Given the description of an element on the screen output the (x, y) to click on. 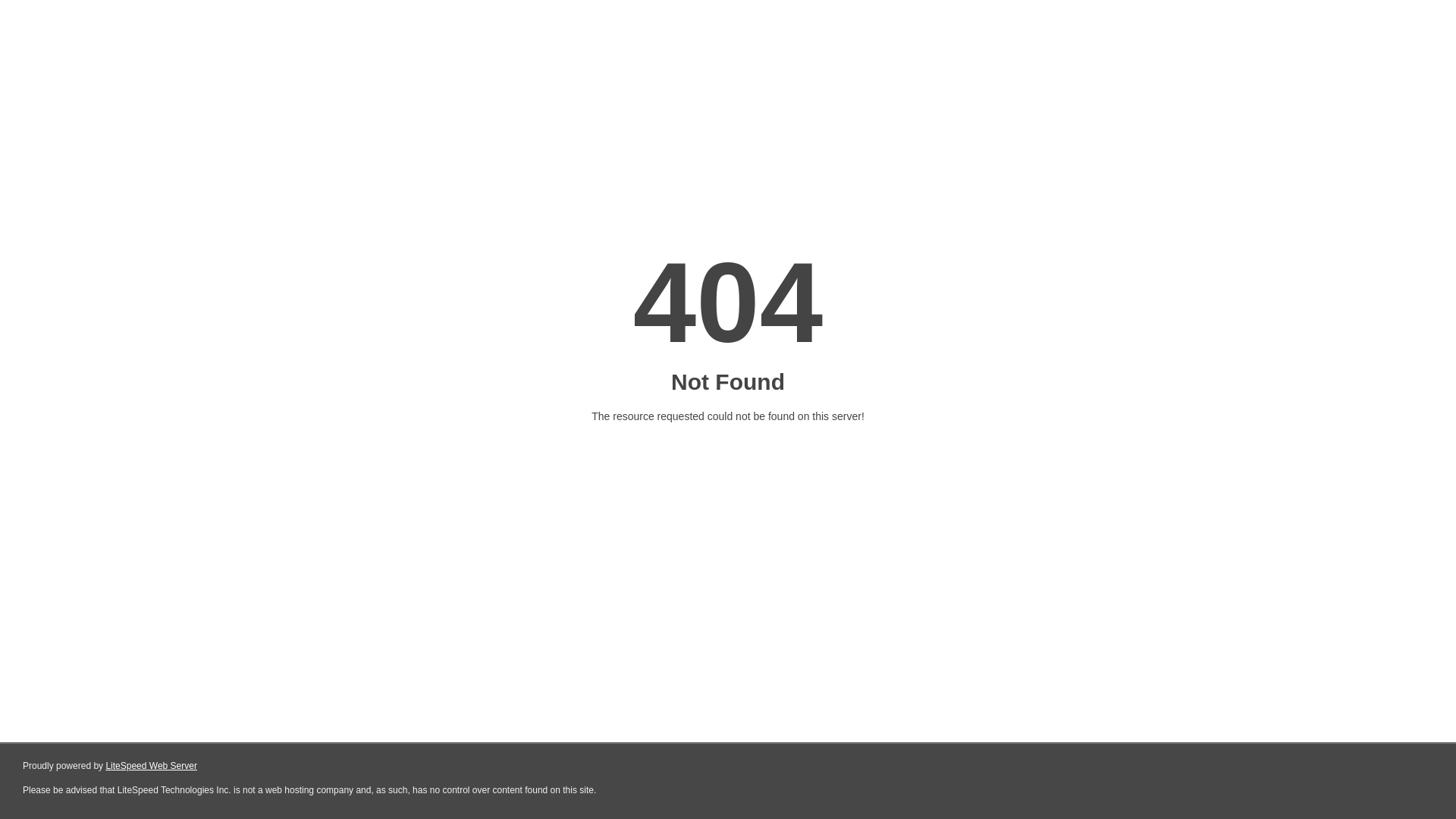
LiteSpeed Web Server Element type: text (151, 765)
